Given the description of an element on the screen output the (x, y) to click on. 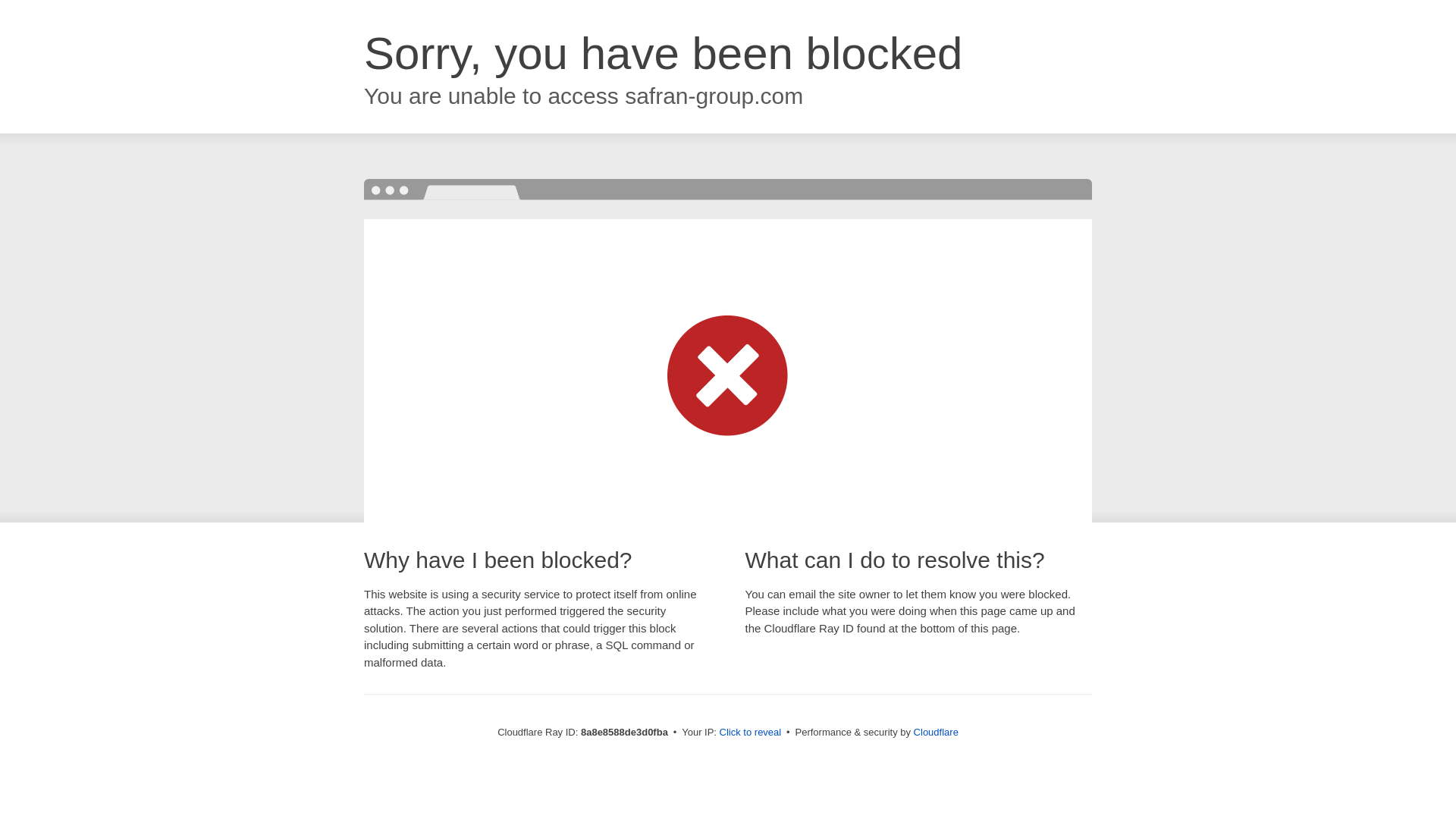
Cloudflare (936, 731)
Click to reveal (750, 732)
